Given the description of an element on the screen output the (x, y) to click on. 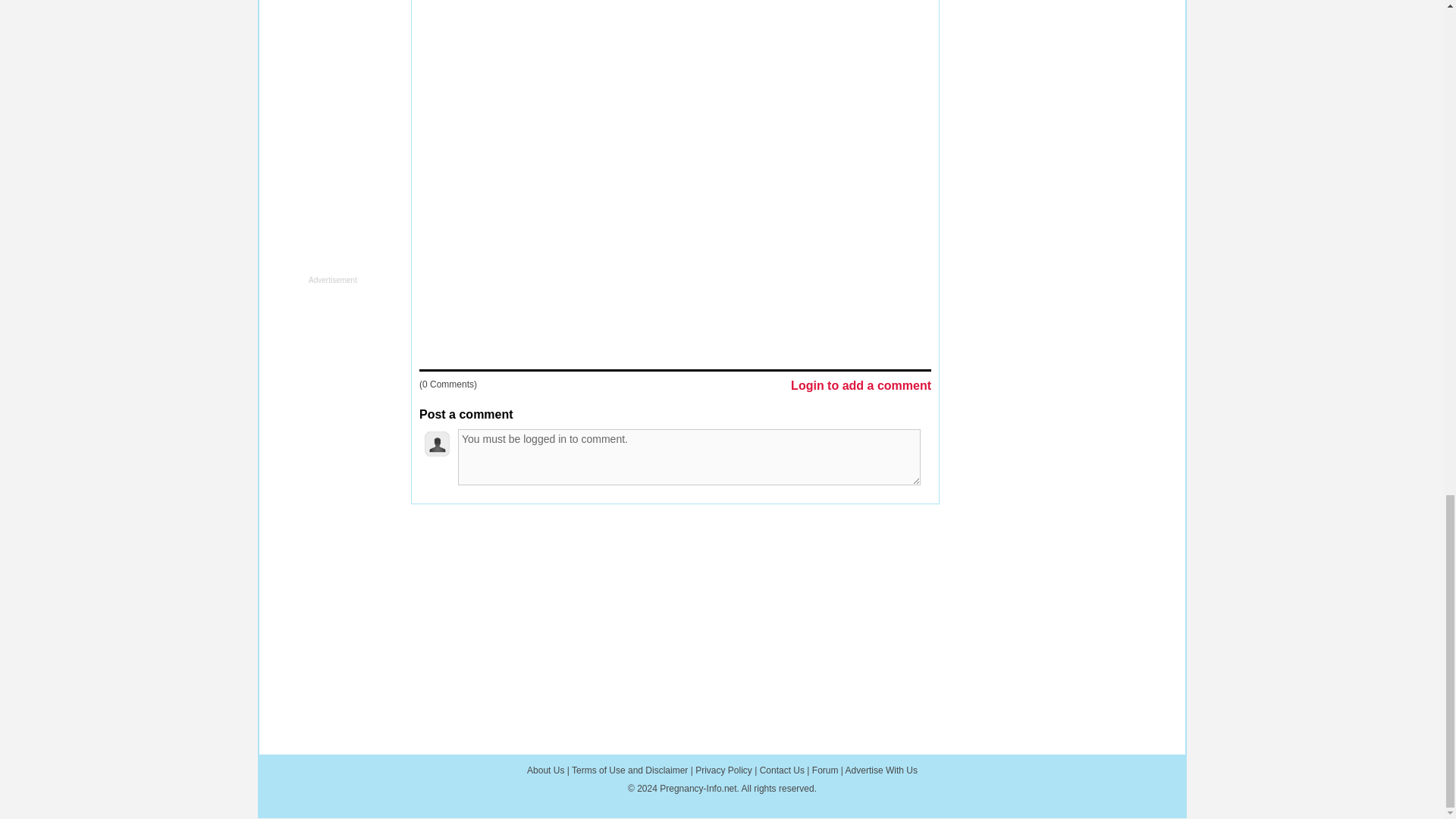
LOG IN (600, 534)
Login to add a comment (860, 386)
